Given the description of an element on the screen output the (x, y) to click on. 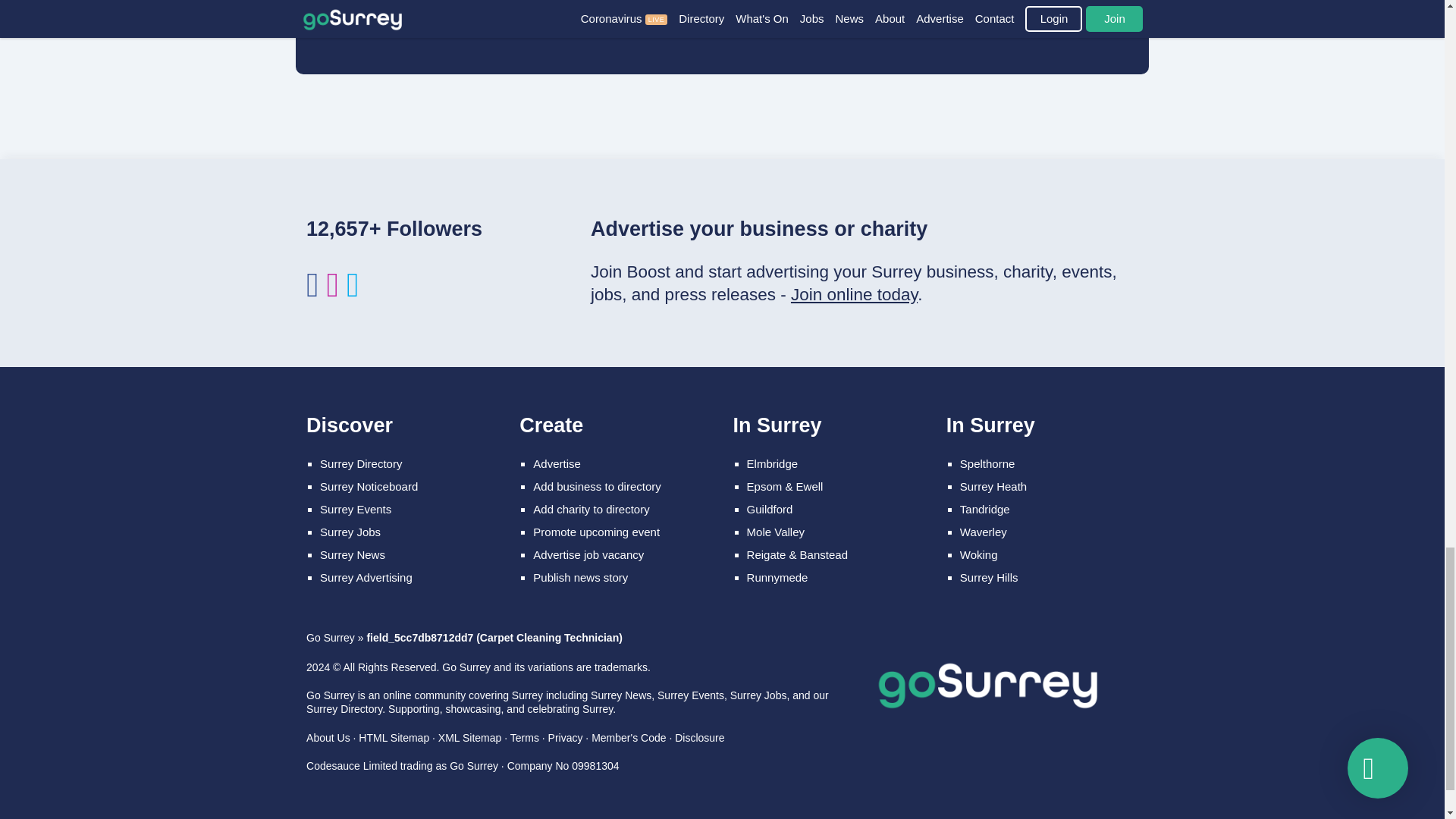
Promote upcoming event (595, 531)
Add business to directory (596, 486)
Join online today (853, 294)
Instagram (331, 291)
Advertise job vacancy (587, 554)
Surrey Advertising (366, 576)
Mole Valley (775, 531)
Surrey Noticeboard (368, 486)
Surrey Directory (360, 463)
Elmbridge (771, 463)
